Given the description of an element on the screen output the (x, y) to click on. 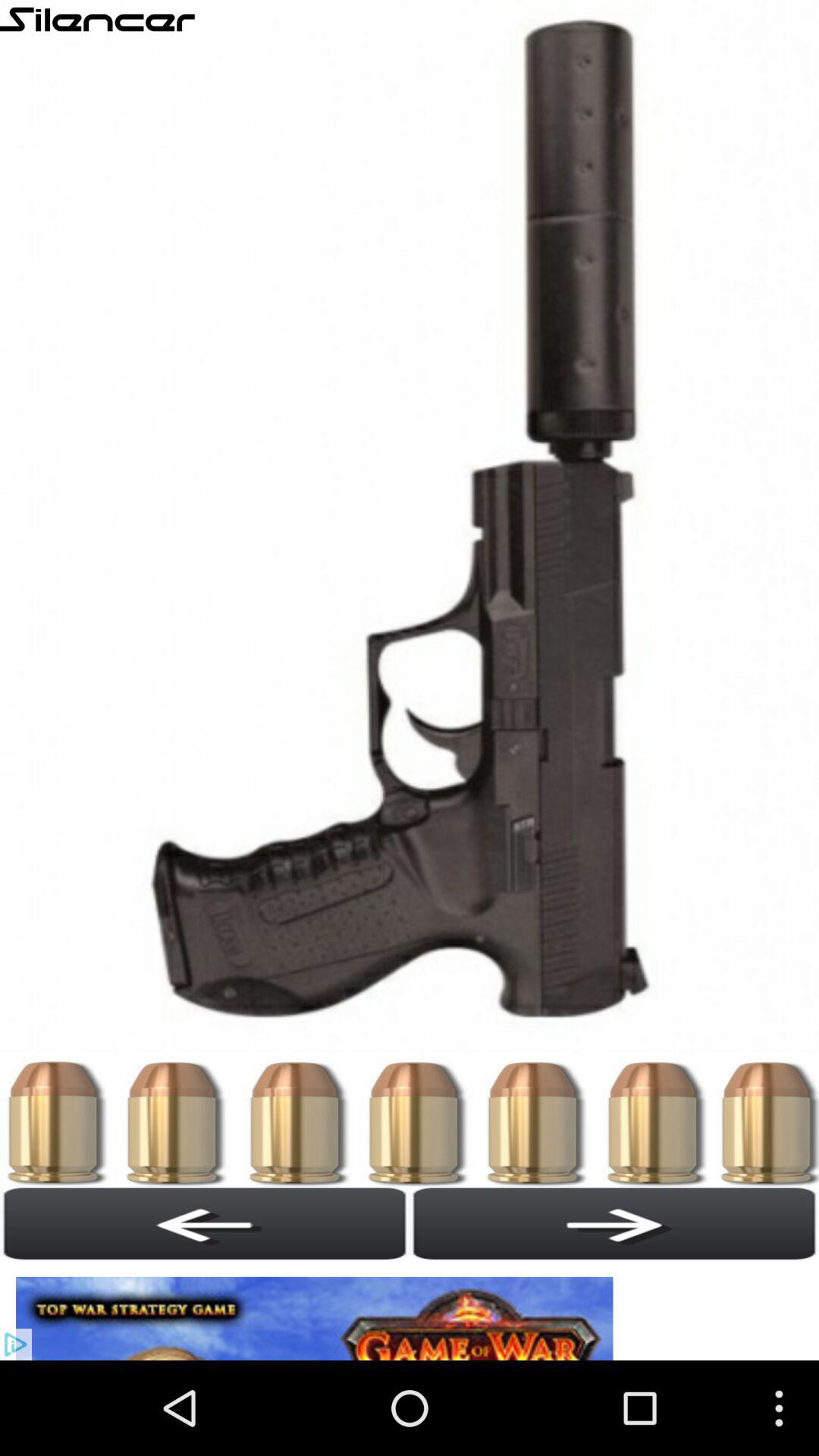
banner advertisement (318, 1310)
